Given the description of an element on the screen output the (x, y) to click on. 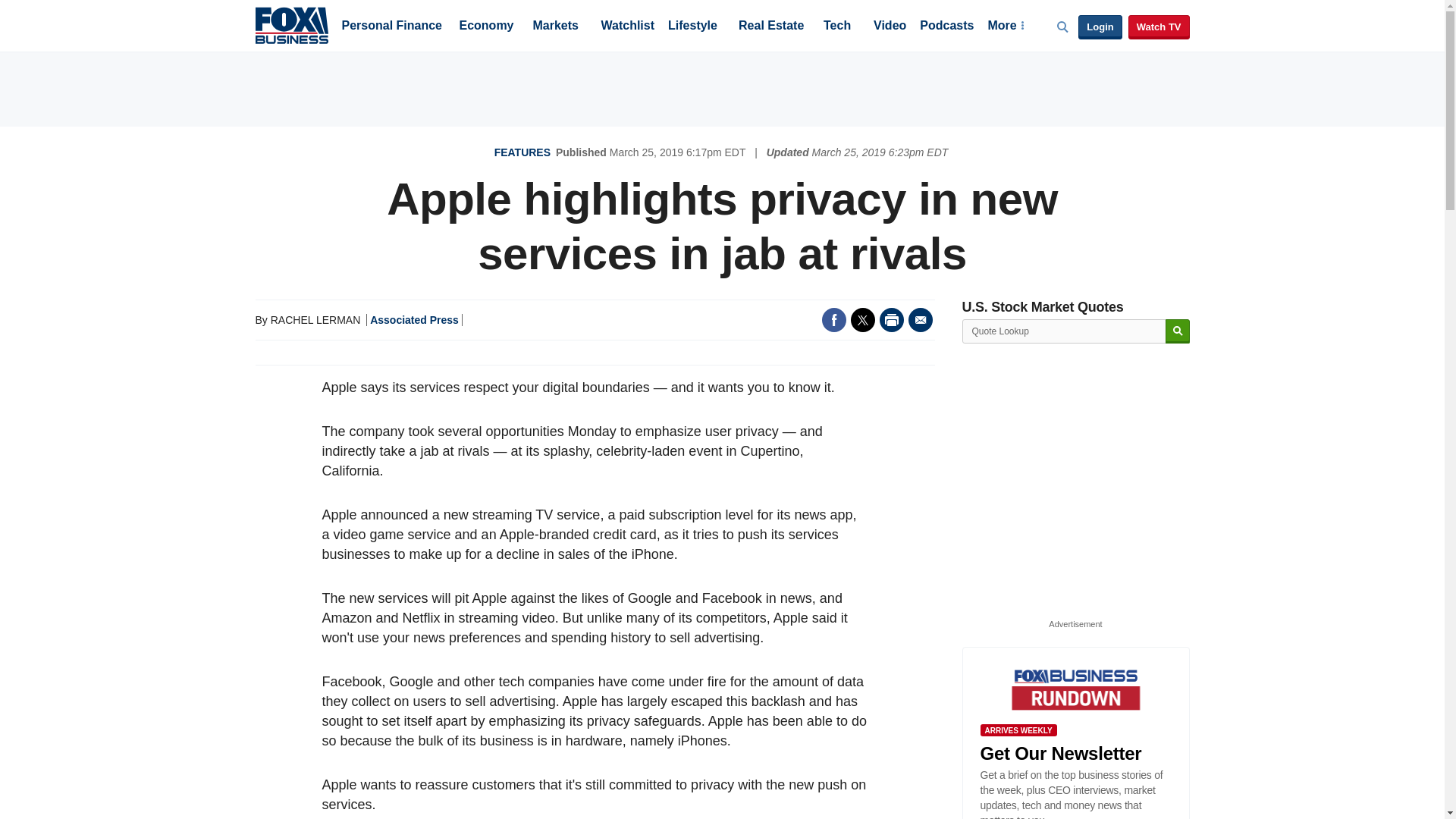
Tech (837, 27)
More (1005, 27)
Real Estate (770, 27)
Podcasts (947, 27)
Watchlist (626, 27)
Search (1176, 331)
Personal Finance (391, 27)
Fox Business (290, 24)
Login (1099, 27)
Search (1176, 331)
